Given the description of an element on the screen output the (x, y) to click on. 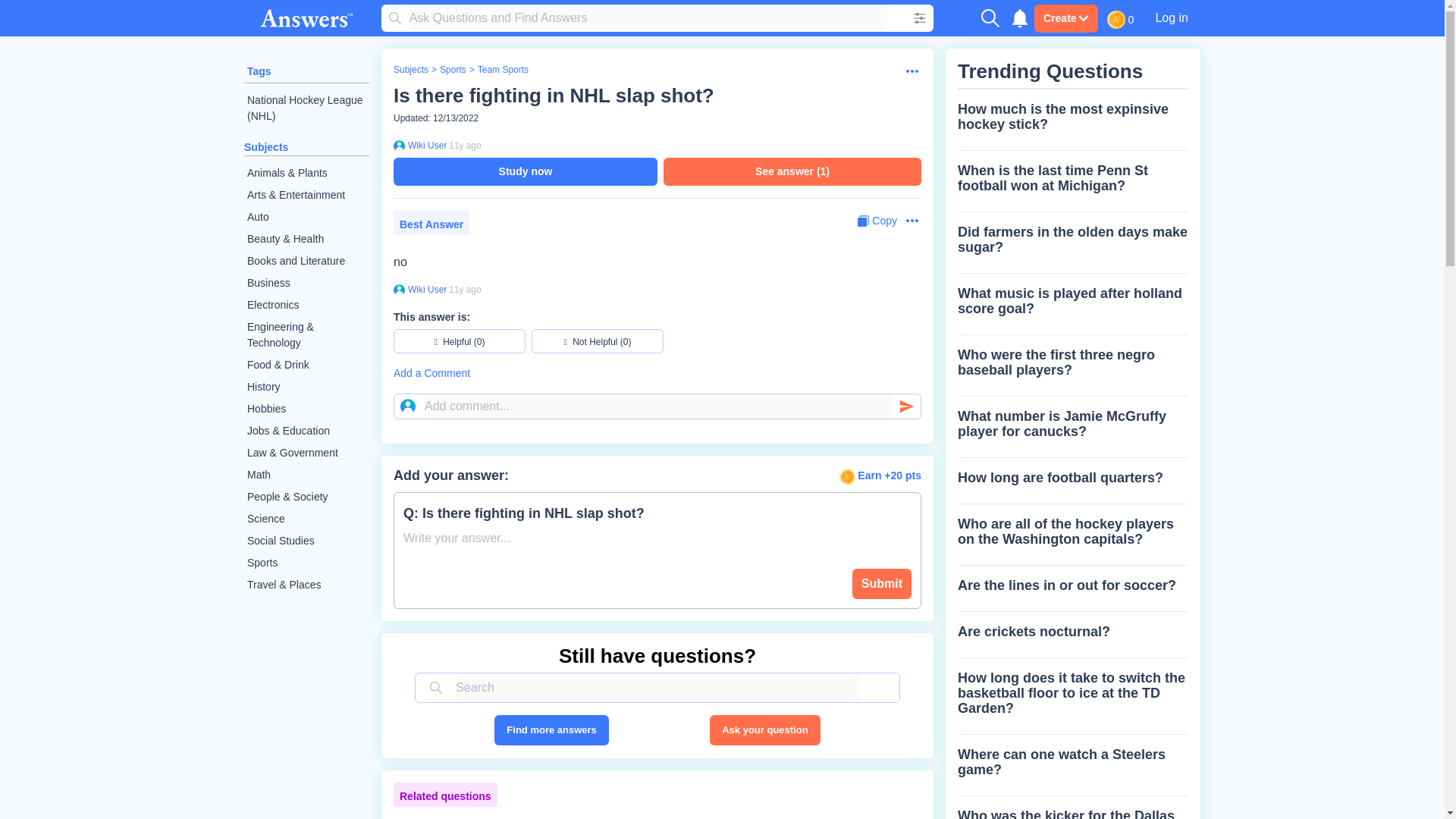
Sports (306, 563)
Study now (525, 171)
Auto (306, 217)
2013-07-20 21:38:41 (464, 289)
Science (306, 518)
2013-07-20 21:38:41 (464, 145)
Wiki User (425, 289)
History (306, 386)
Business (306, 282)
Sports (452, 69)
